Given the description of an element on the screen output the (x, y) to click on. 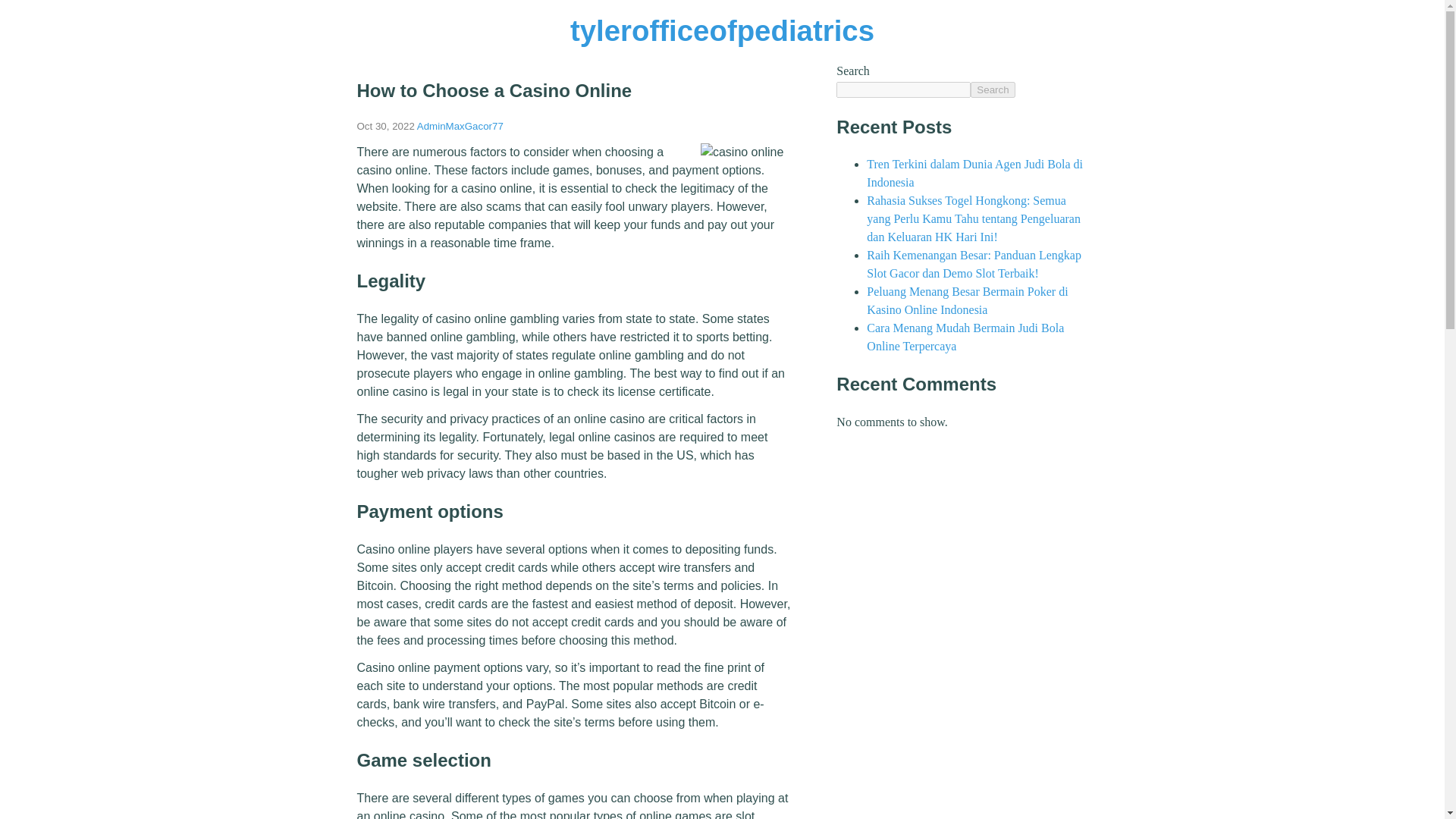
AdminMaxGacor77 (459, 125)
tylerofficeofpediatrics (722, 30)
Search (992, 89)
Cara Menang Mudah Bermain Judi Bola Online Terpercaya (965, 336)
Tren Terkini dalam Dunia Agen Judi Bola di Indonesia (974, 173)
